Given the description of an element on the screen output the (x, y) to click on. 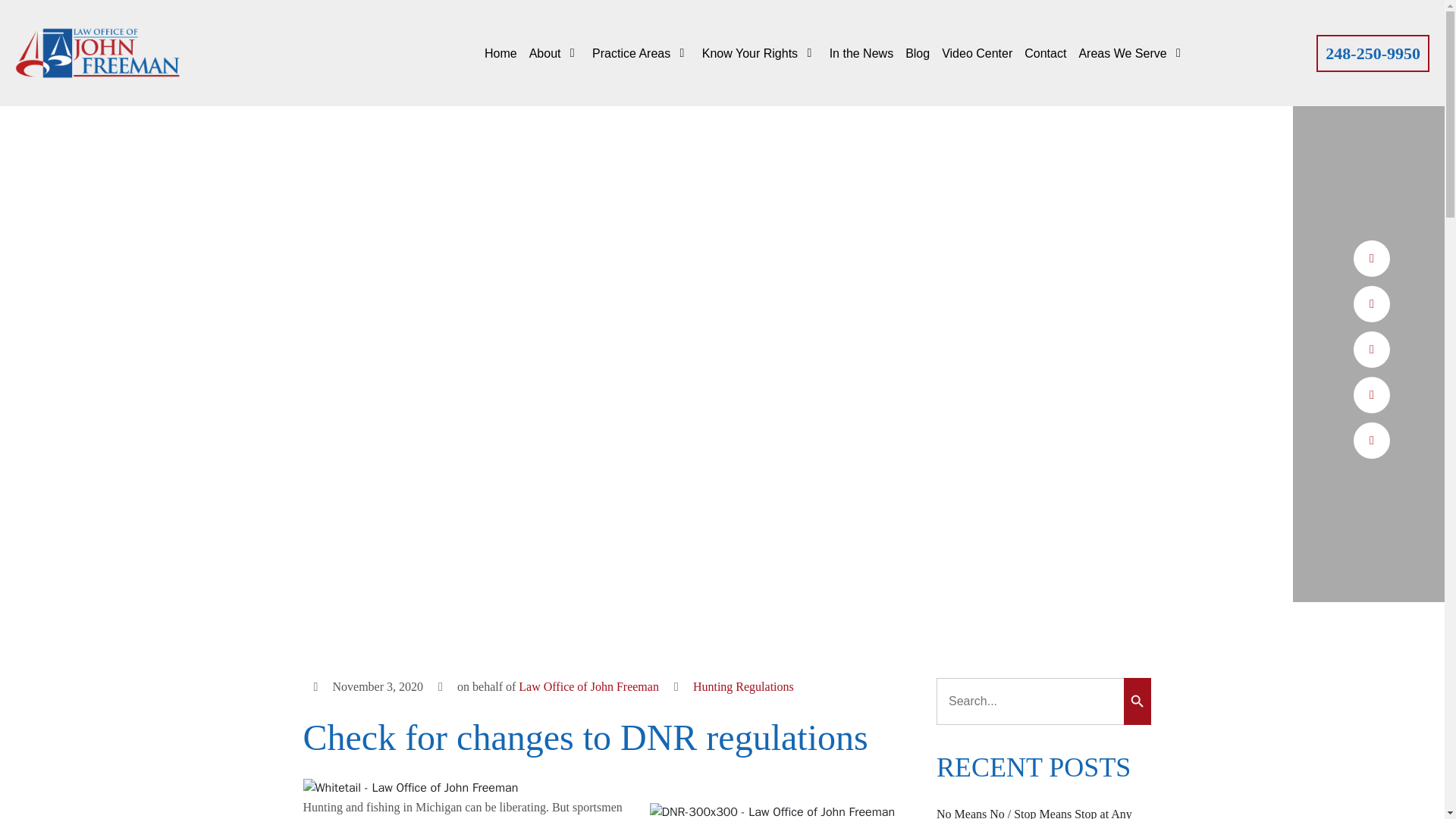
About (554, 53)
Whitetail - Law Office of John Freeman (410, 787)
Practice Areas (641, 53)
DNR-300x300 - Law Office of John Freeman (772, 811)
Home (500, 53)
